Given the description of an element on the screen output the (x, y) to click on. 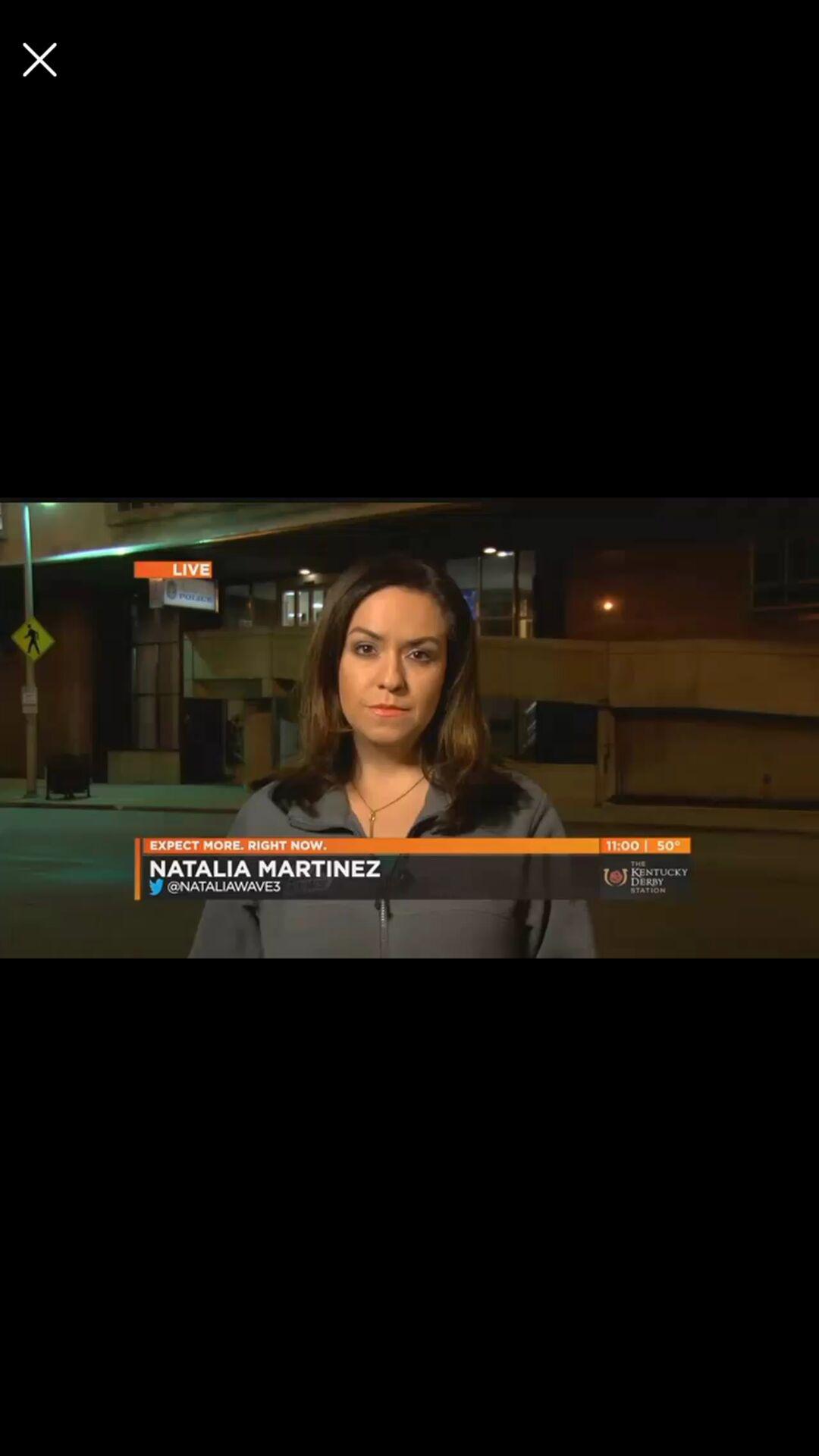
go to close (39, 59)
